Given the description of an element on the screen output the (x, y) to click on. 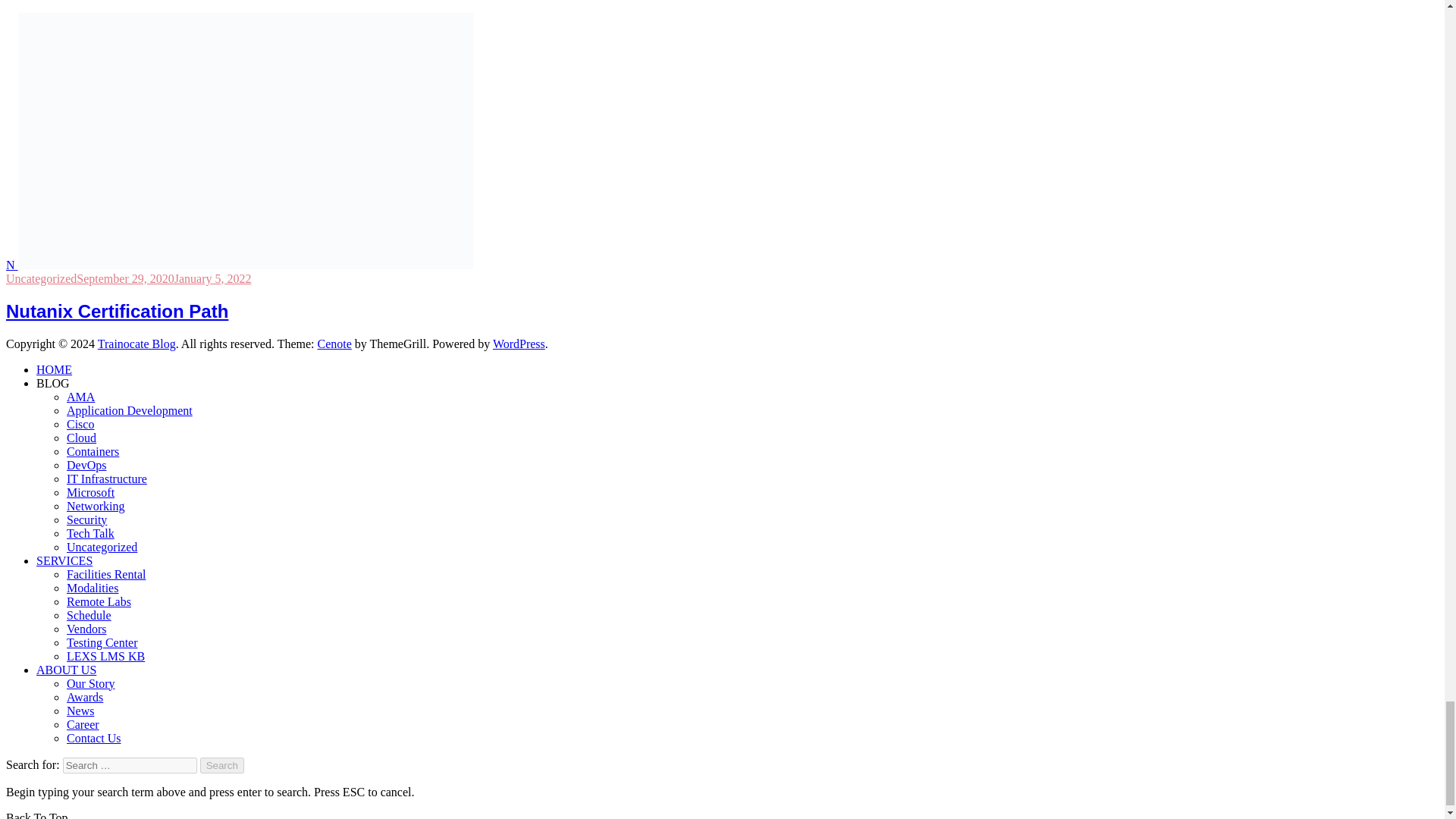
Search (222, 765)
Trainocate Blog (136, 343)
Search (222, 765)
